Given the description of an element on the screen output the (x, y) to click on. 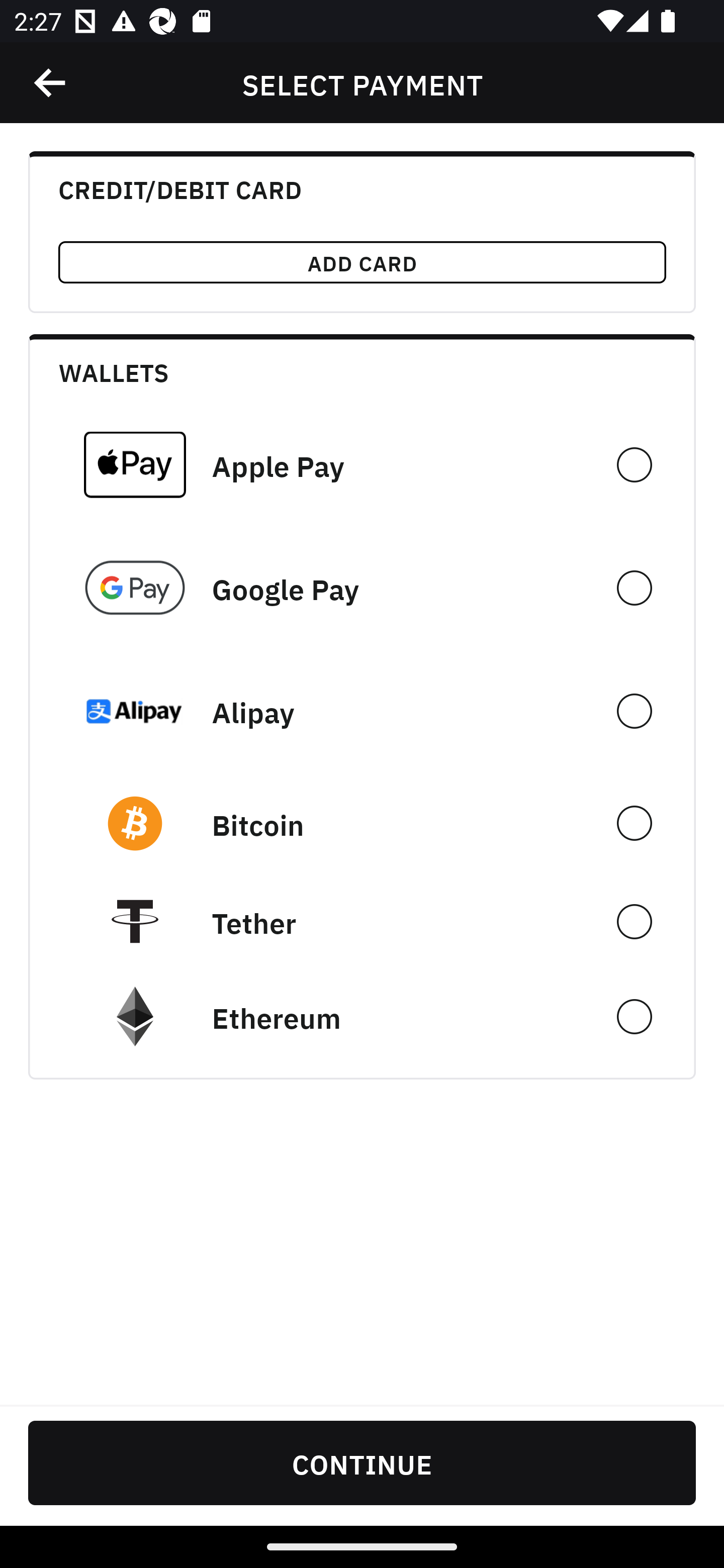
 (50, 83)
ADD CARD (362, 262)
Apple Pay (362, 464)
Google Pay (362, 587)
Alipay (362, 711)
󰠓 Bitcoin (362, 823)
Tether (362, 921)
Ethereum (362, 1016)
CONTINUE (361, 1462)
